Given the description of an element on the screen output the (x, y) to click on. 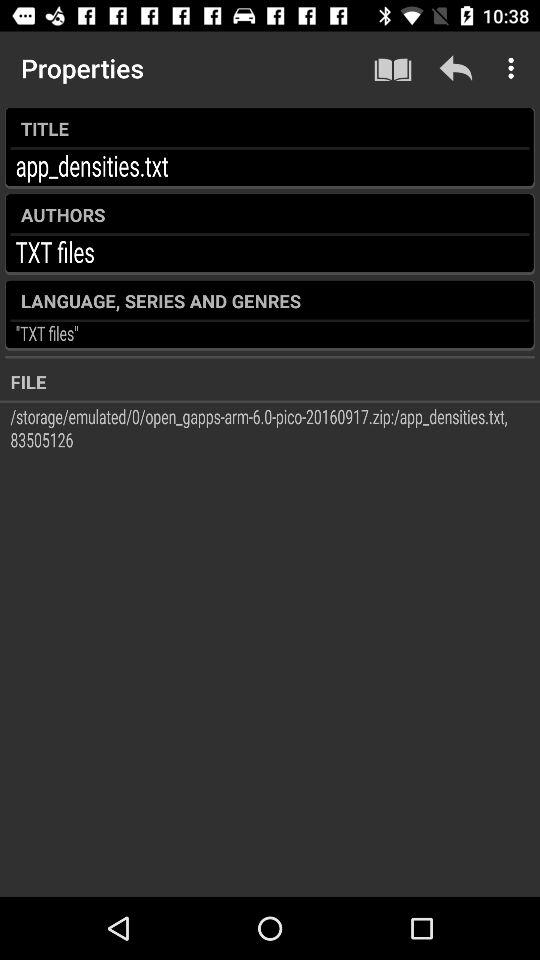
launch icon to the right of the properties icon (392, 67)
